Given the description of an element on the screen output the (x, y) to click on. 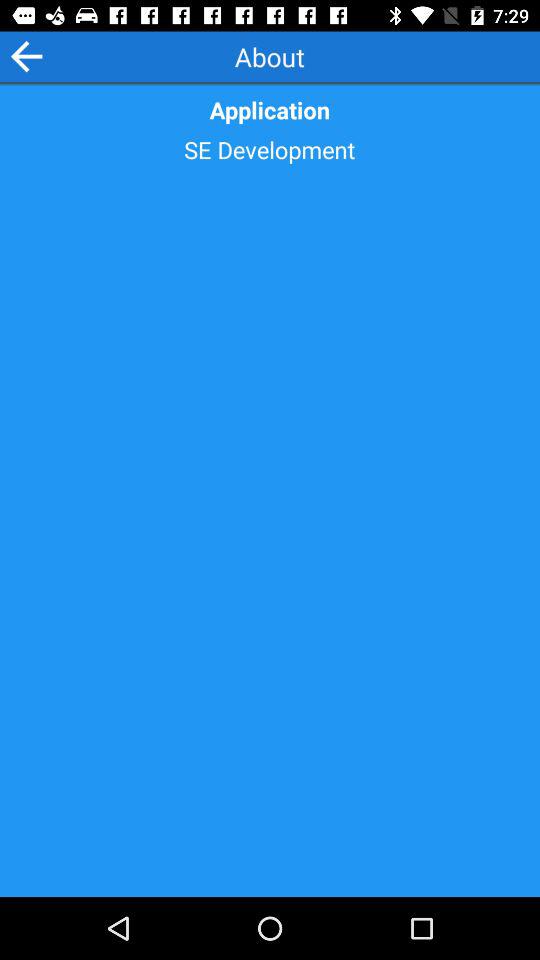
turn off the icon at the top left corner (26, 56)
